Given the description of an element on the screen output the (x, y) to click on. 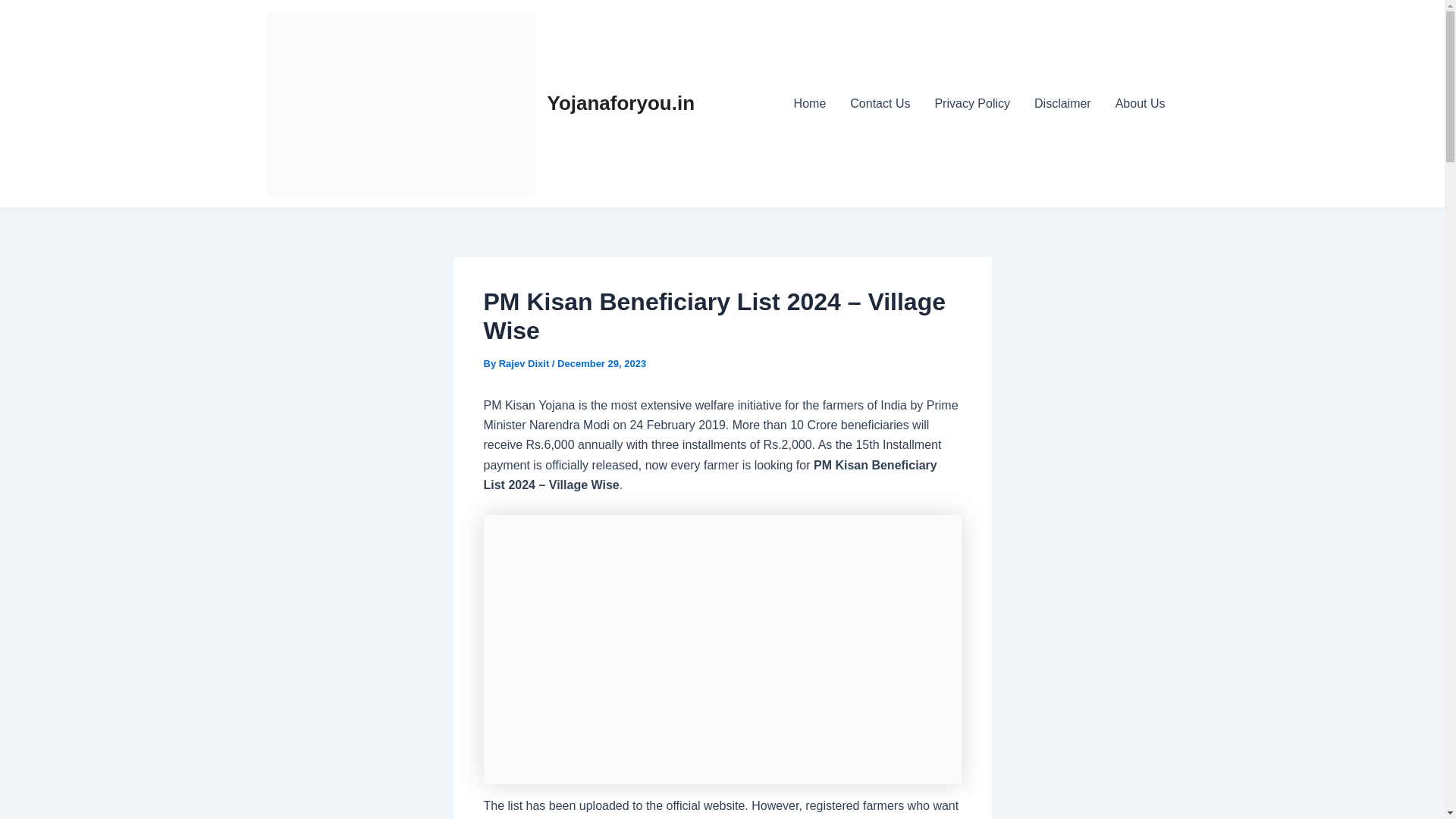
Privacy Policy (971, 103)
About Us (1140, 103)
Disclaimer (1062, 103)
Home (809, 103)
Yojanaforyou.in (621, 102)
Rajev Dixit (525, 363)
Contact Us (879, 103)
View all posts by Rajev Dixit (525, 363)
